Given the description of an element on the screen output the (x, y) to click on. 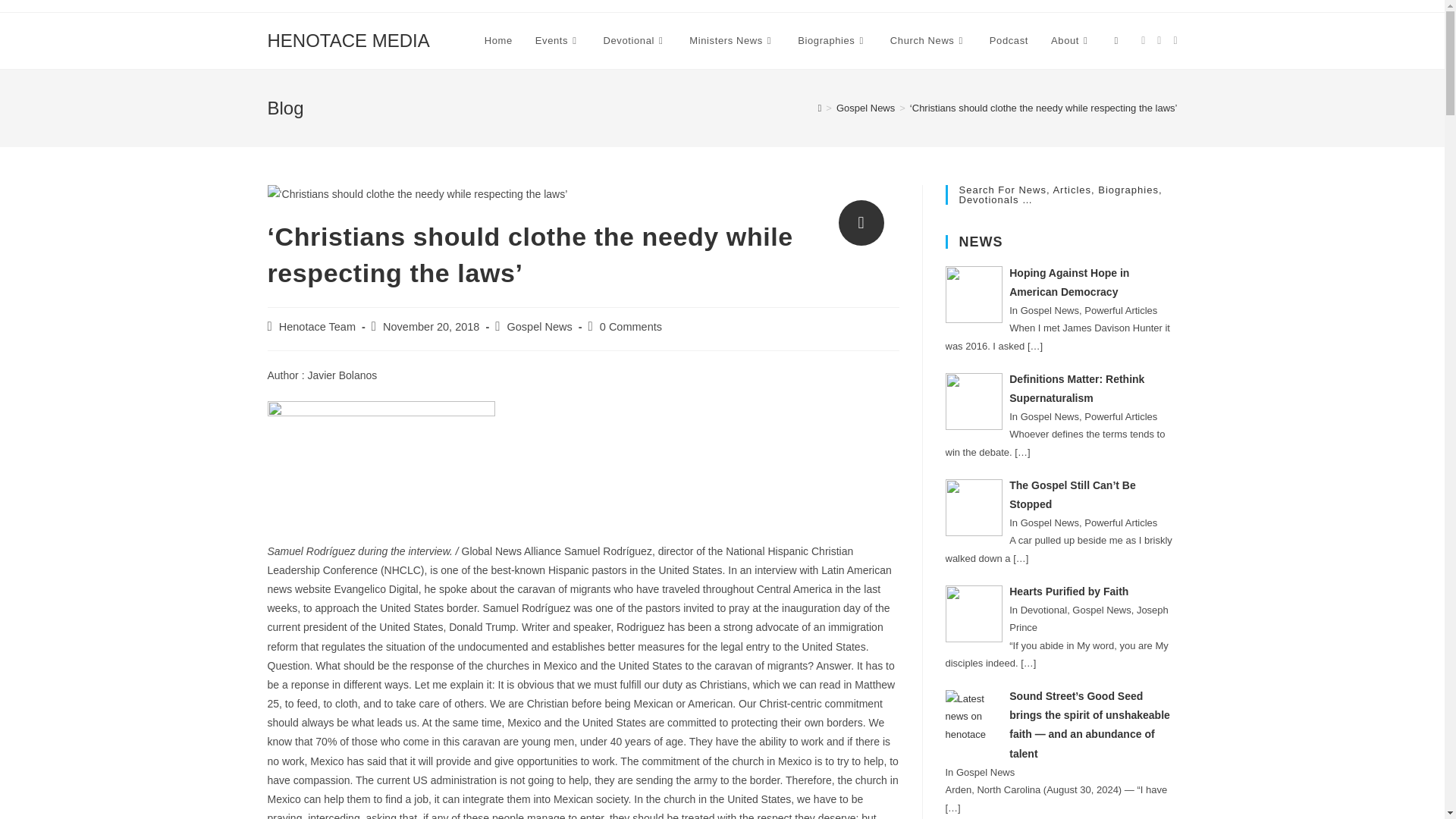
Biographies (832, 40)
Posts by Henotace Team (317, 326)
HENOTACE MEDIA (347, 40)
Home (498, 40)
Devotional (635, 40)
Events (558, 40)
Ministers News (732, 40)
